Given the description of an element on the screen output the (x, y) to click on. 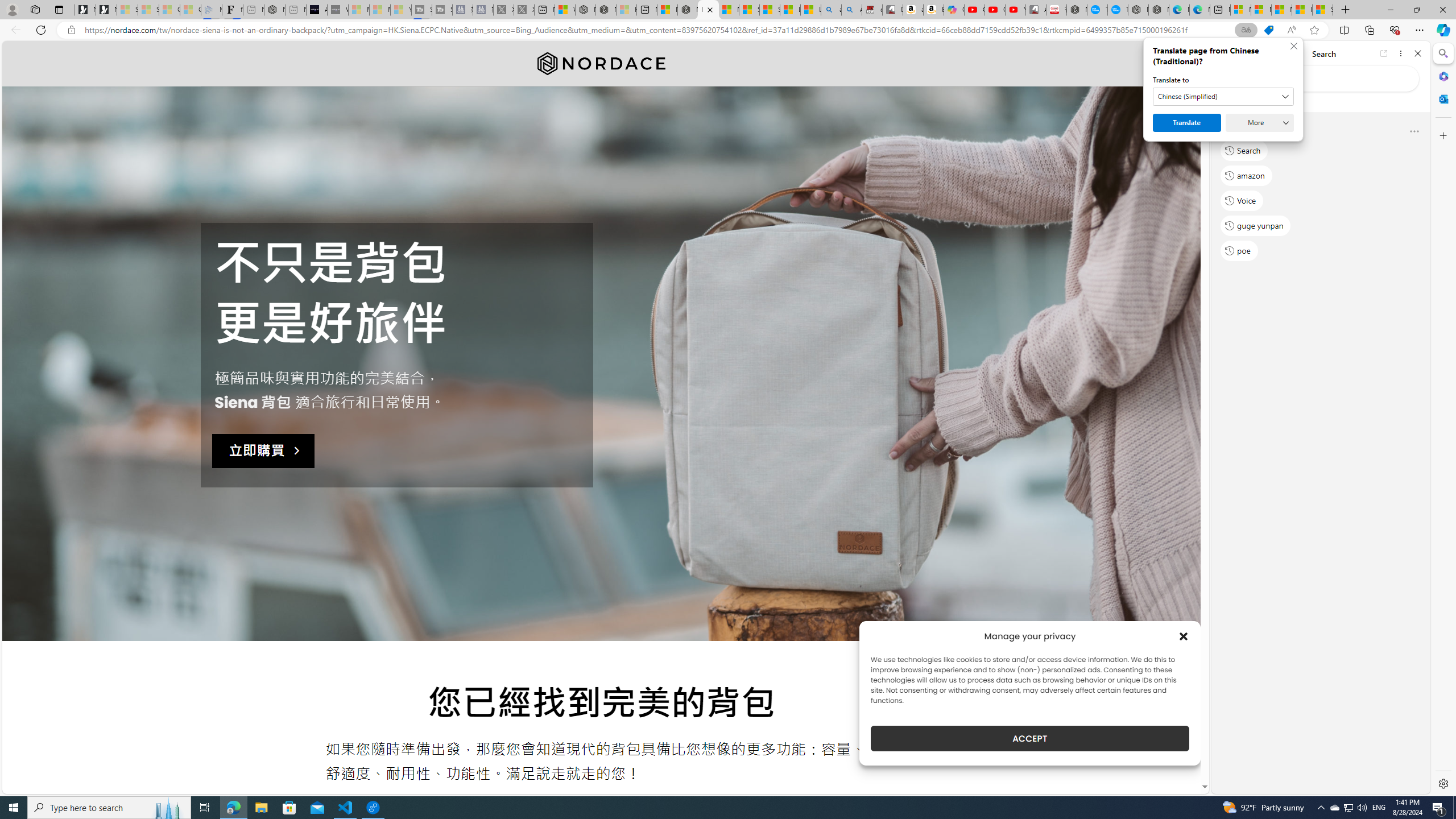
Web scope (1230, 102)
Home (1261, 53)
